Given the description of an element on the screen output the (x, y) to click on. 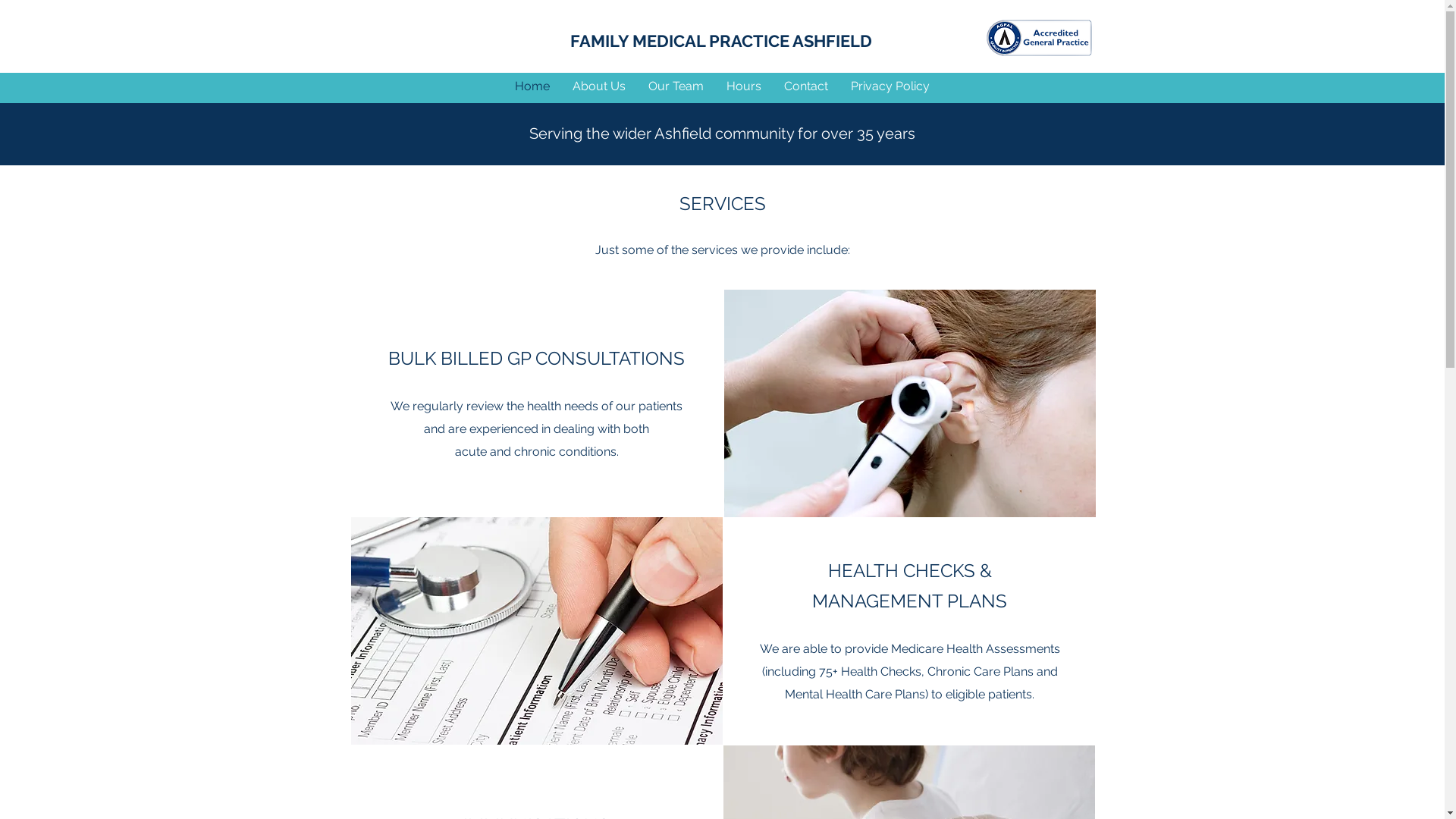
Privacy Policy Element type: text (890, 85)
Our Team Element type: text (676, 85)
Ear Exam Element type: hover (909, 403)
Home Element type: text (532, 85)
About Us Element type: text (599, 85)
Contact Element type: text (805, 85)
Medical form with stethoscope Element type: hover (535, 630)
Hours Element type: text (743, 85)
